Given the description of an element on the screen output the (x, y) to click on. 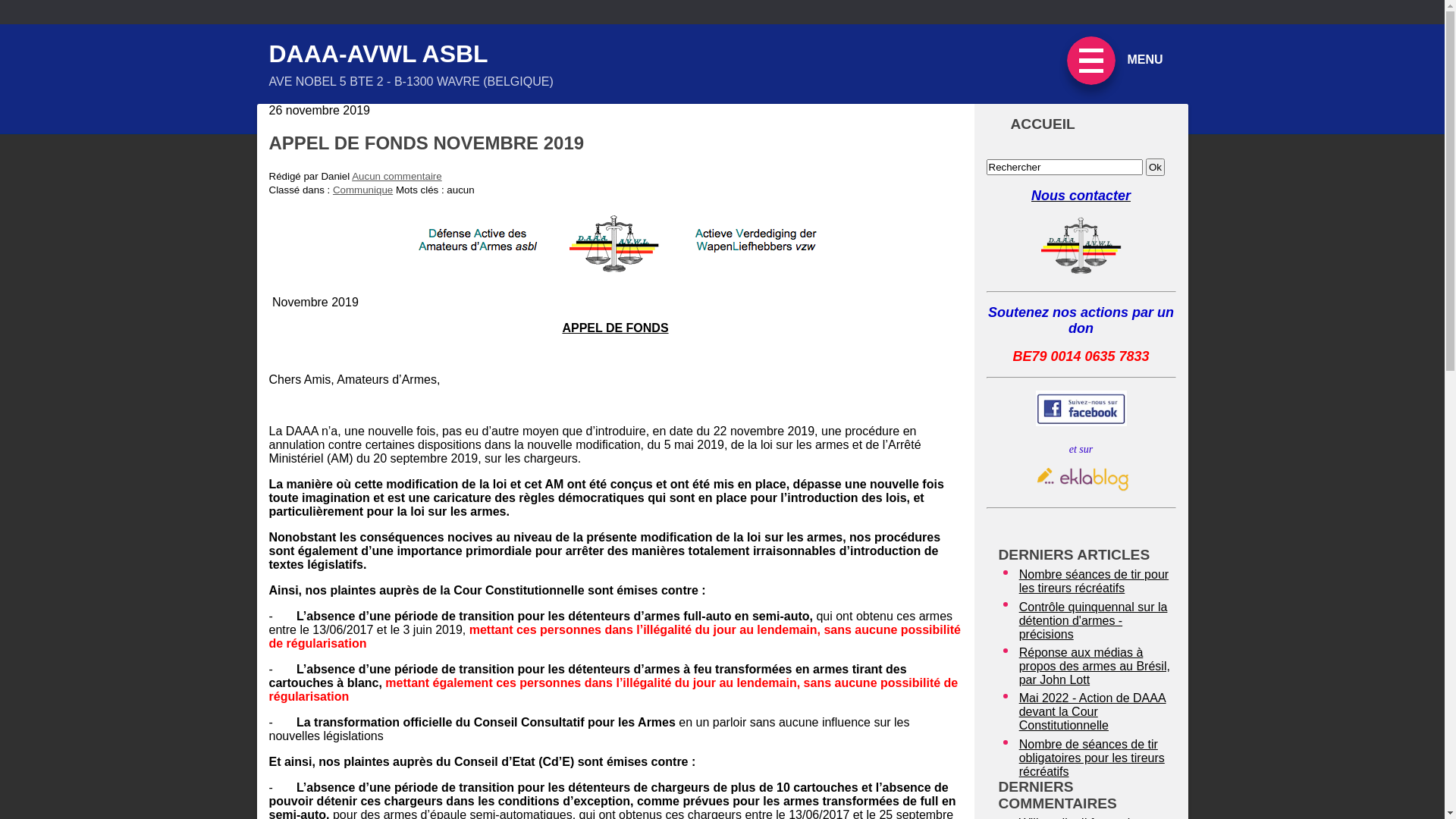
Aucun commentaire Element type: text (396, 176)
Mai 2022 - Action de DAAA devant la Cour Constitutionnelle Element type: text (1095, 711)
Communique Element type: text (362, 189)
Nous contacter Element type: text (1080, 195)
Ok Element type: text (1154, 166)
ACCUEIL Element type: text (1080, 124)
